Given the description of an element on the screen output the (x, y) to click on. 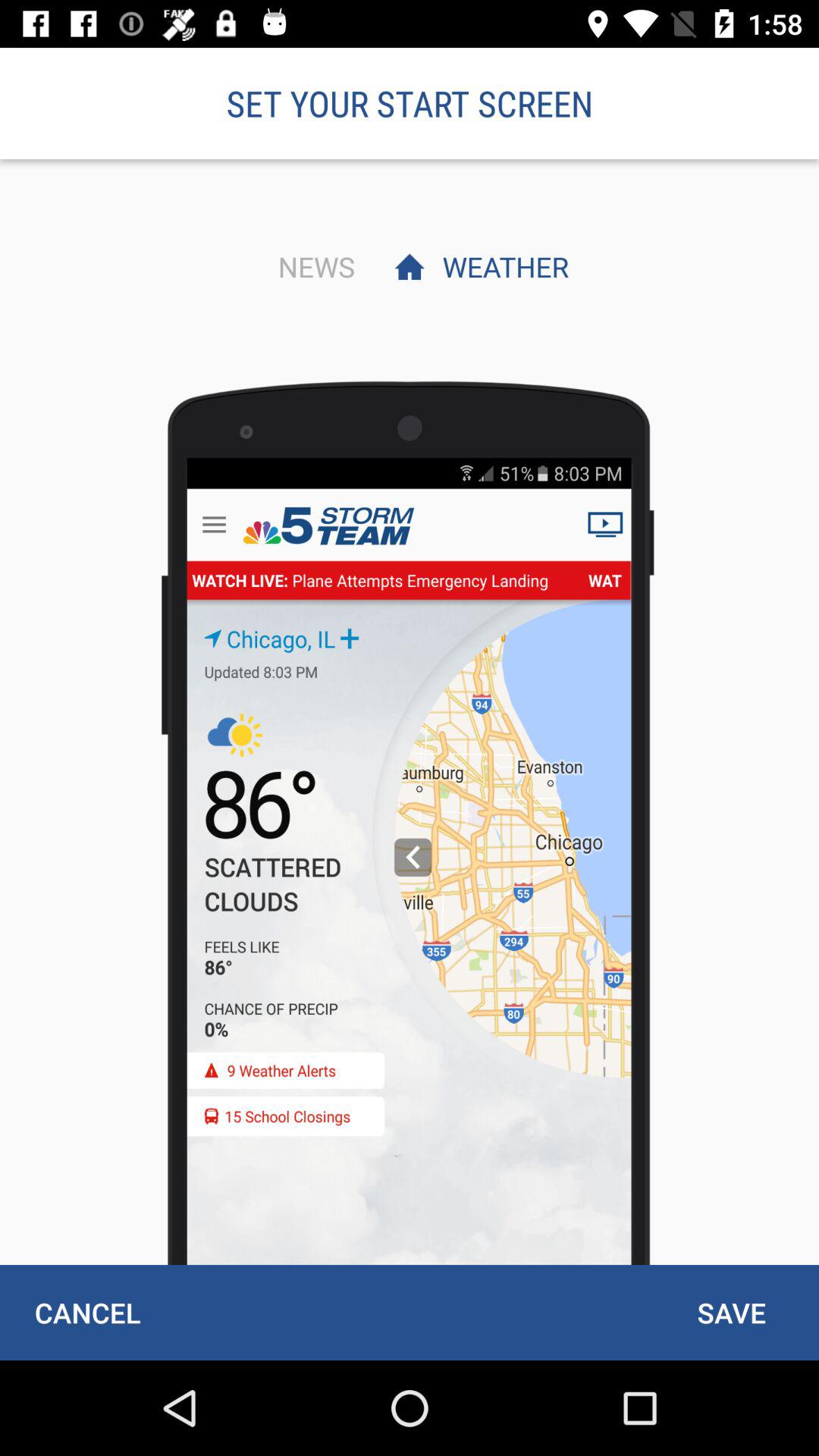
launch icon at the bottom right corner (731, 1312)
